Given the description of an element on the screen output the (x, y) to click on. 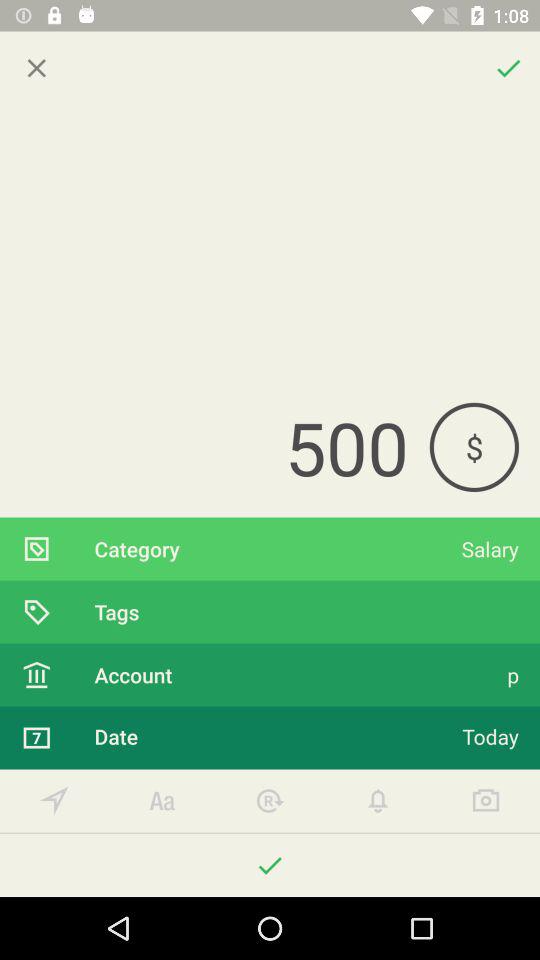
choose icon to the right of the 500 (474, 446)
